Given the description of an element on the screen output the (x, y) to click on. 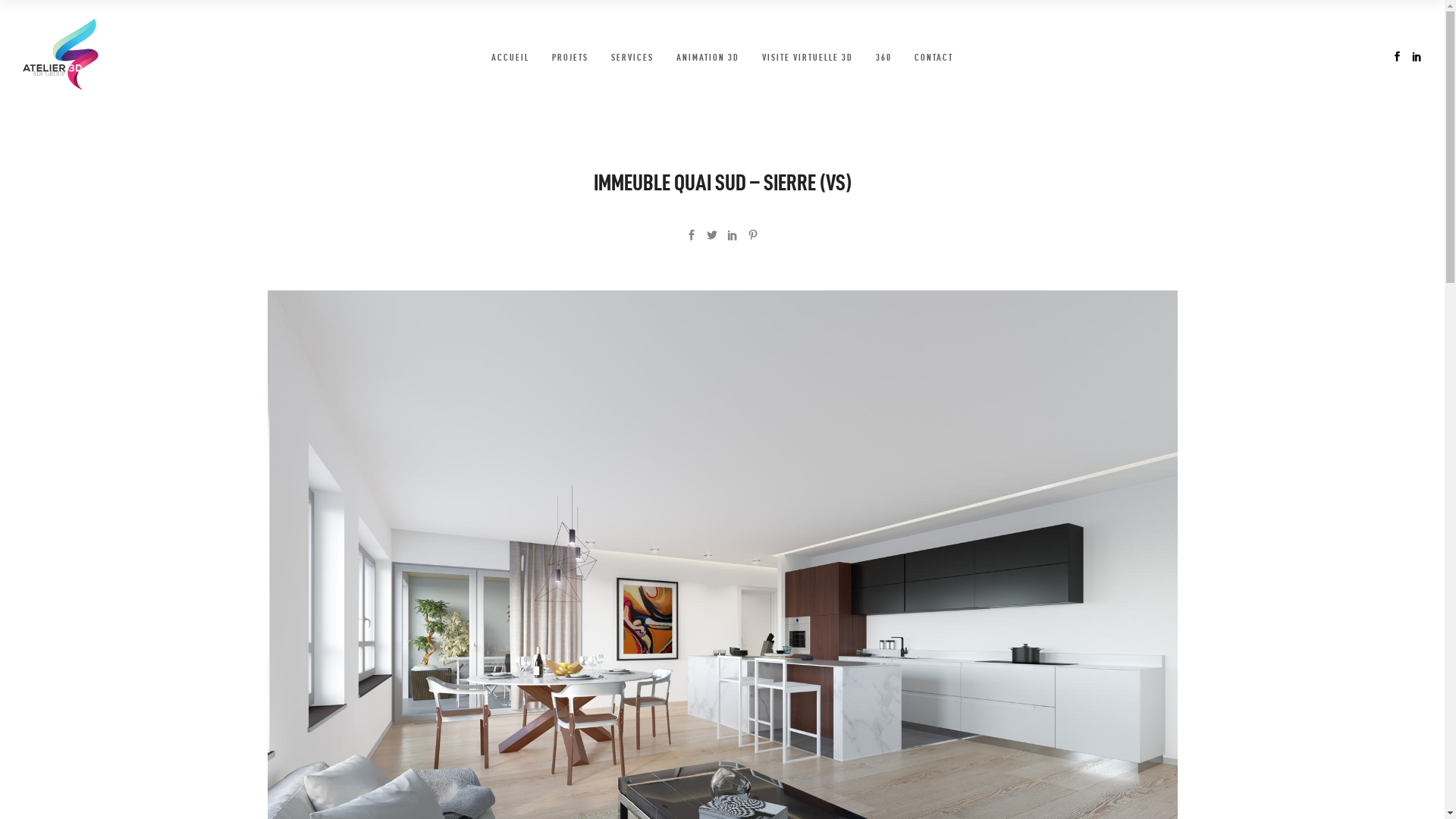
CONTACT Element type: text (933, 56)
ANIMATION 3D Element type: text (707, 56)
SERVICES Element type: text (632, 56)
360 Element type: text (883, 56)
ACCUEIL Element type: text (510, 56)
PROJETS Element type: text (569, 56)
VISITE VIRTUELLE 3D Element type: text (807, 56)
